Given the description of an element on the screen output the (x, y) to click on. 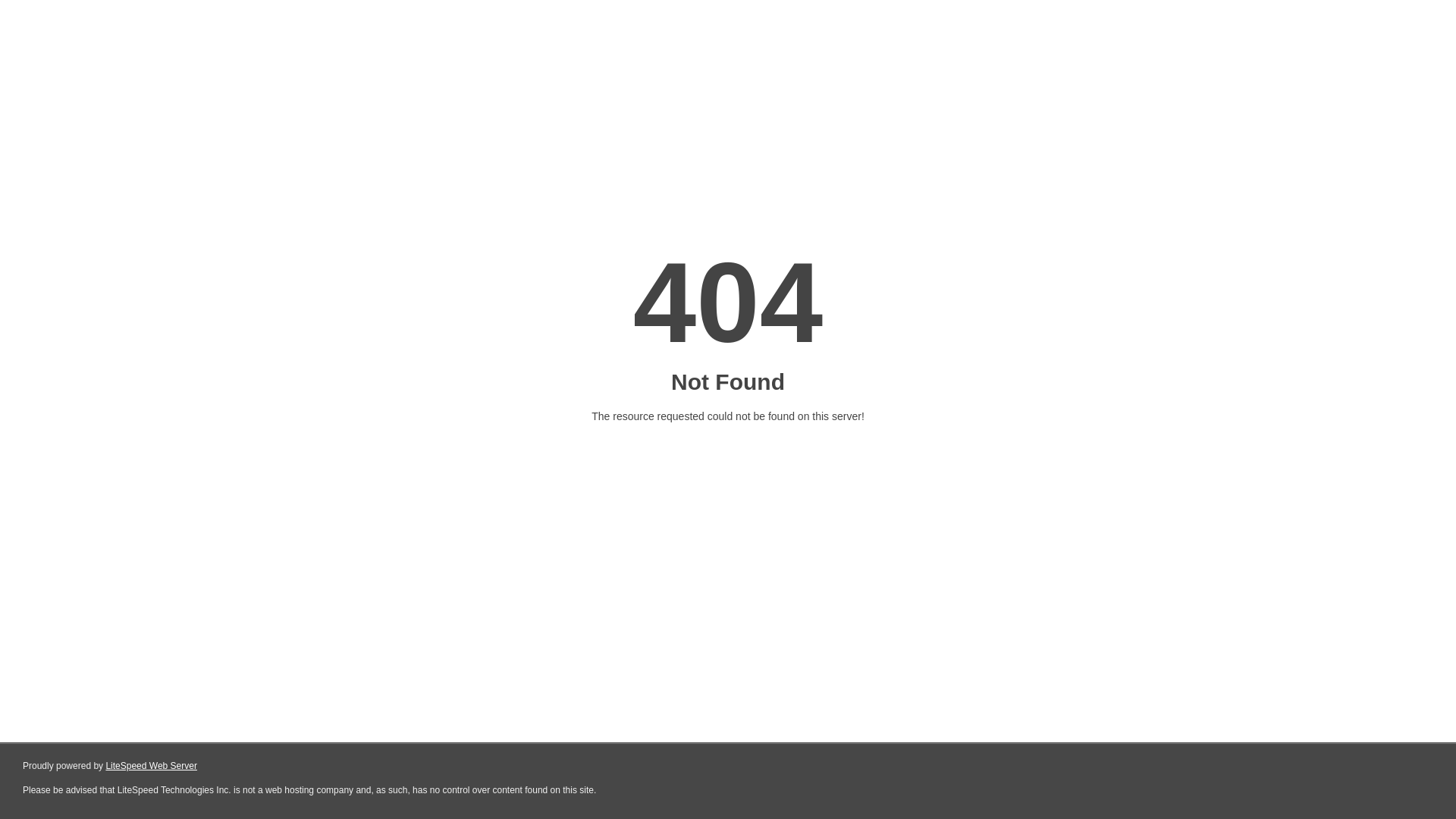
LiteSpeed Web Server Element type: text (151, 765)
